Given the description of an element on the screen output the (x, y) to click on. 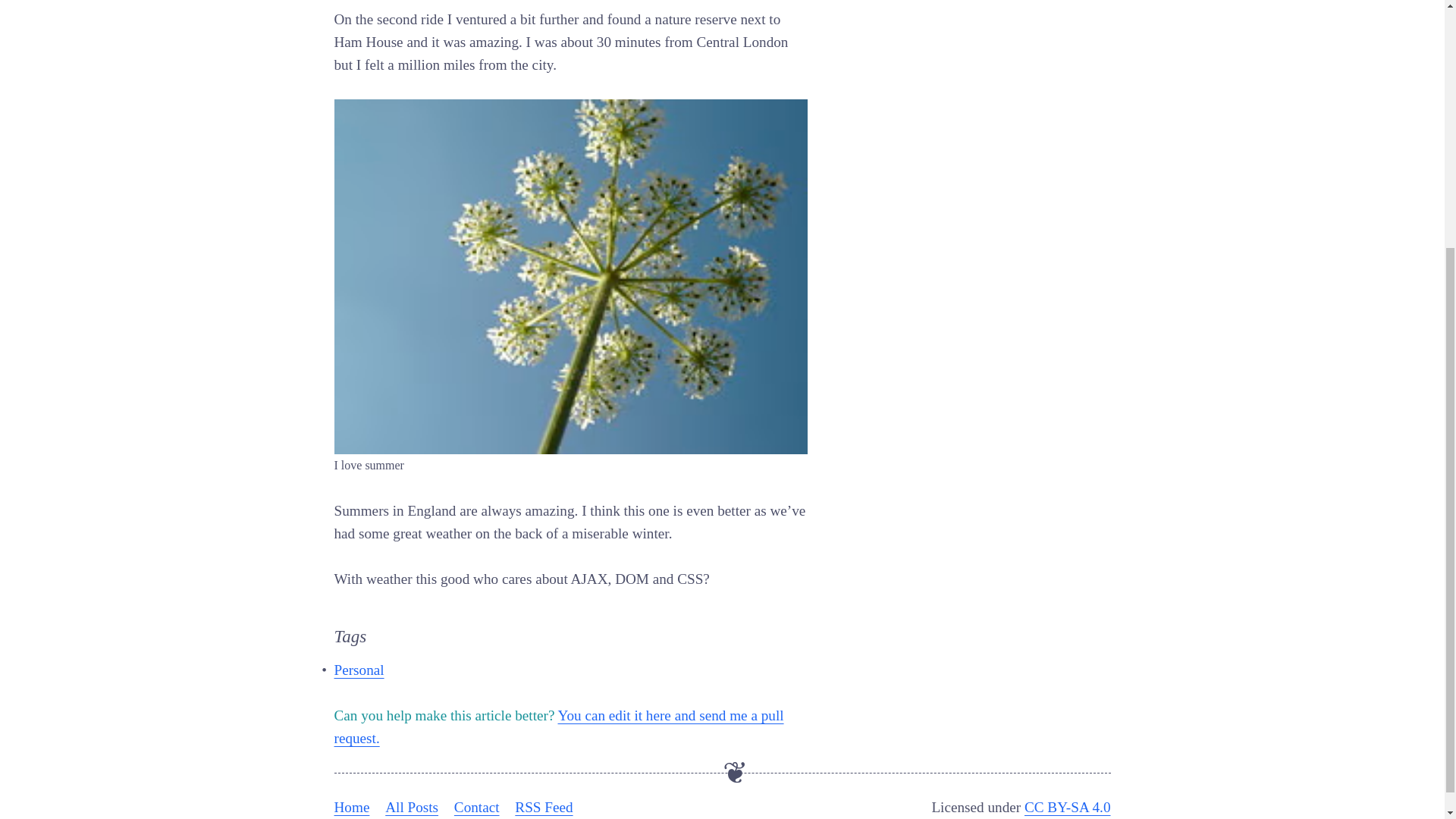
All Posts (411, 806)
You can edit it here and send me a pull request. (558, 726)
Personal (358, 669)
CC BY-SA 4.0 (1067, 806)
RSS Feed (543, 806)
Contact (476, 806)
Home (351, 806)
